Given the description of an element on the screen output the (x, y) to click on. 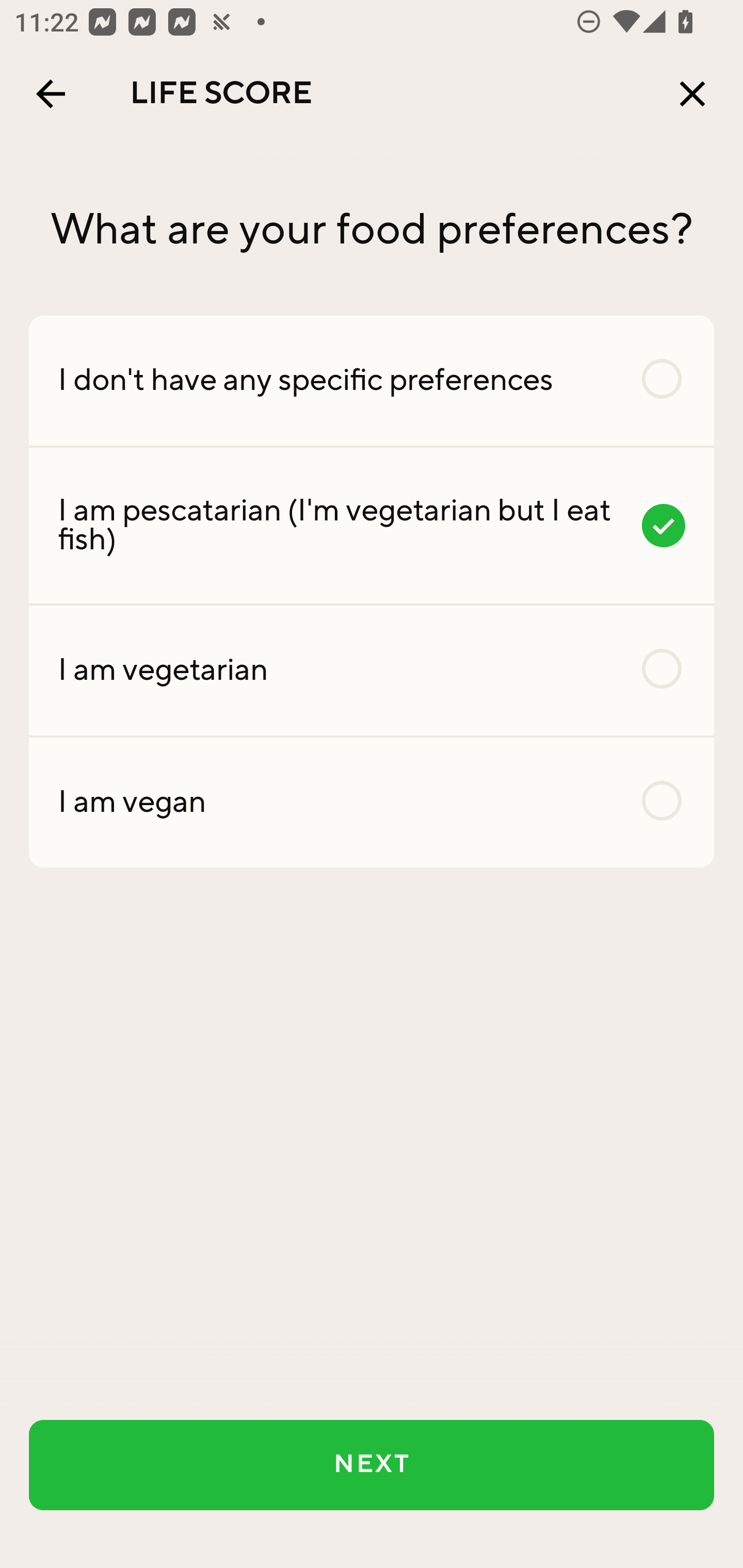
I don't have any specific preferences (371, 380)
I am pescatarian (I'm vegetarian but I eat fish) (371, 525)
I am vegetarian (371, 670)
I am vegan (371, 801)
NEXT (371, 1464)
